Given the description of an element on the screen output the (x, y) to click on. 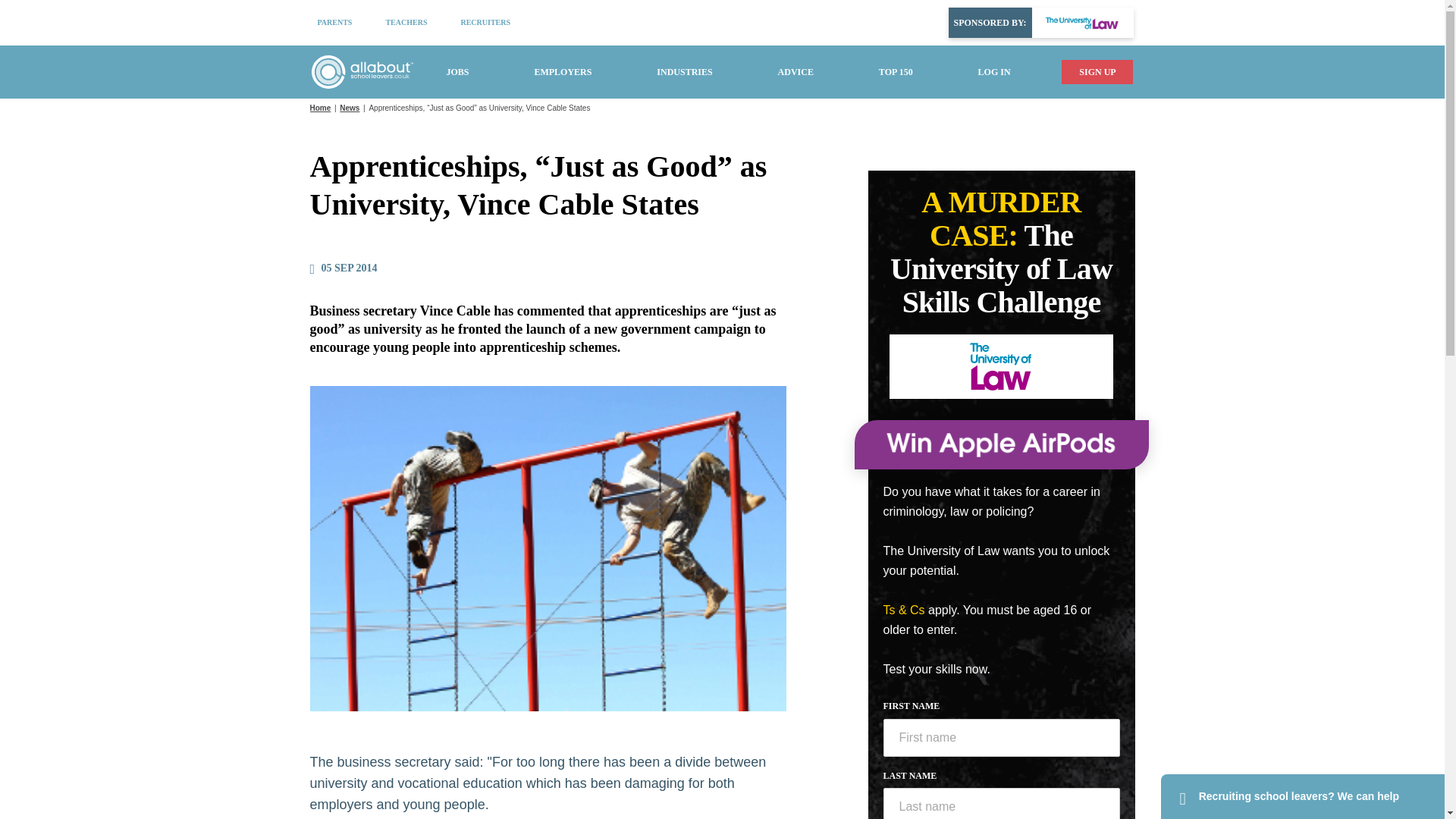
JOBS (456, 71)
ADVICE (795, 71)
INDUSTRIES (684, 71)
EMPLOYERS (562, 71)
ALLABOUTSCHOOLLEAVERS (361, 71)
